Given the description of an element on the screen output the (x, y) to click on. 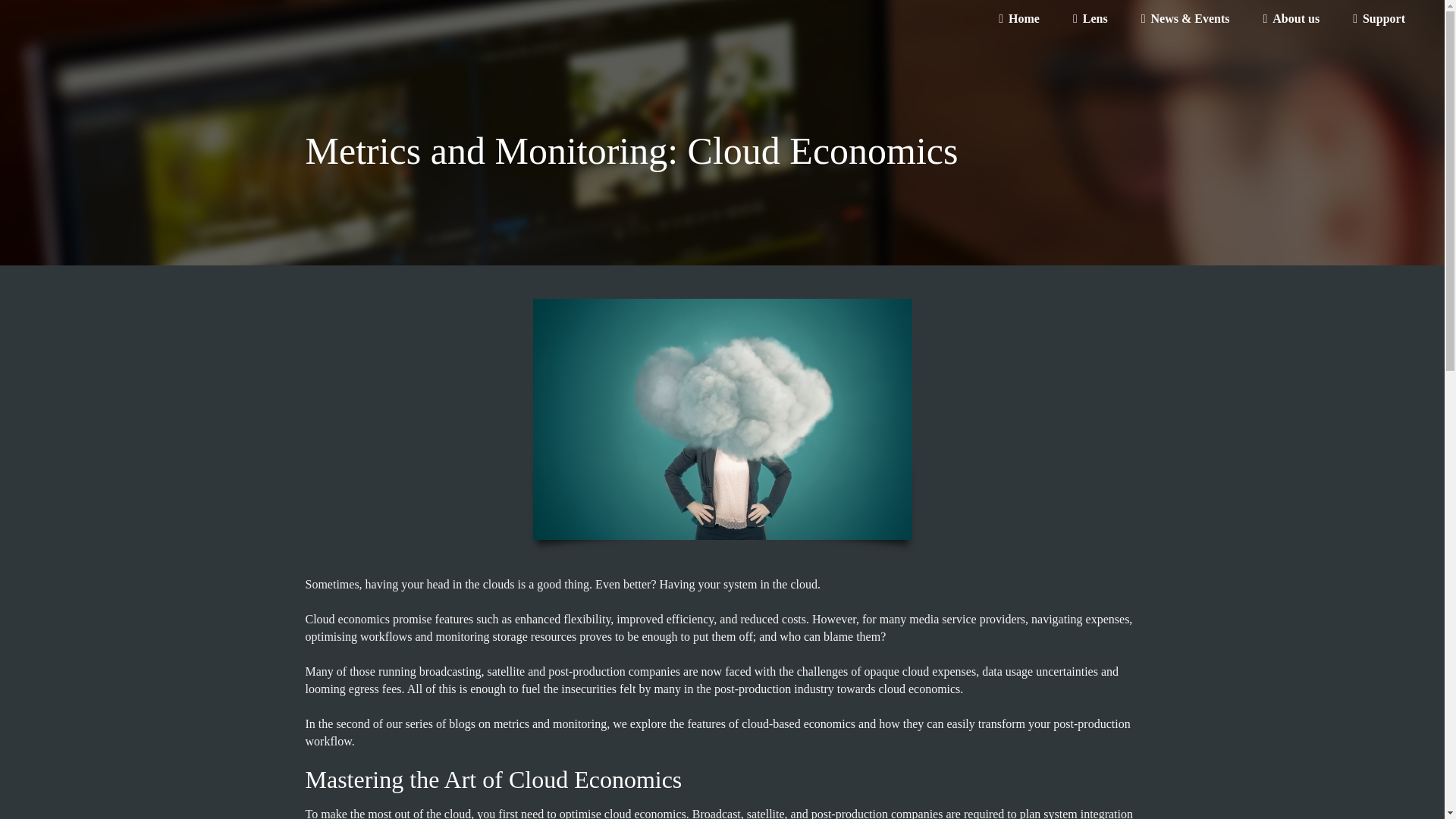
CloudEconomics (721, 418)
Lens (1090, 18)
Support (1379, 18)
About us (1291, 18)
Home (1019, 18)
